Given the description of an element on the screen output the (x, y) to click on. 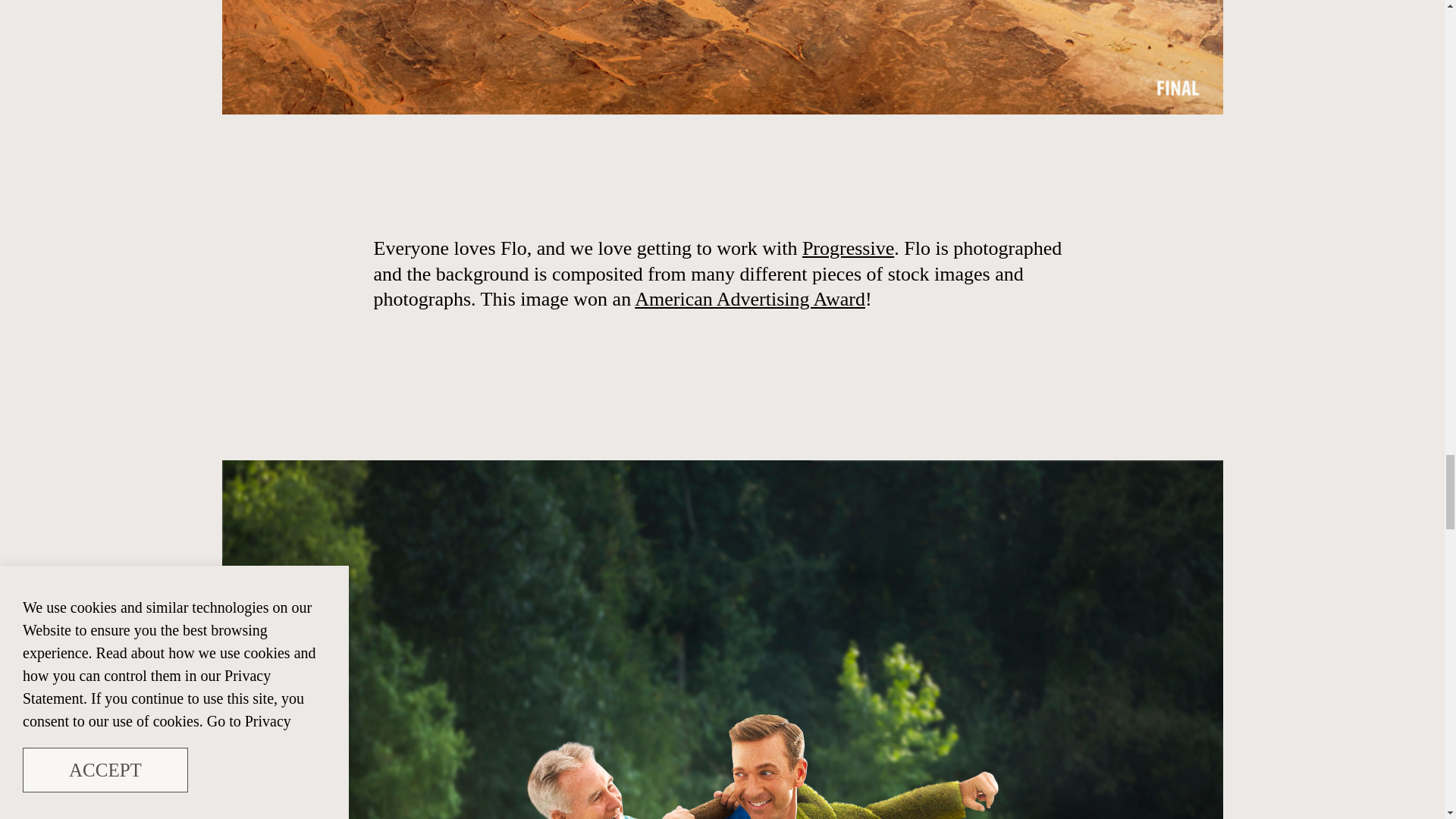
American Advertising Award (749, 299)
Progressive (847, 248)
